Given the description of an element on the screen output the (x, y) to click on. 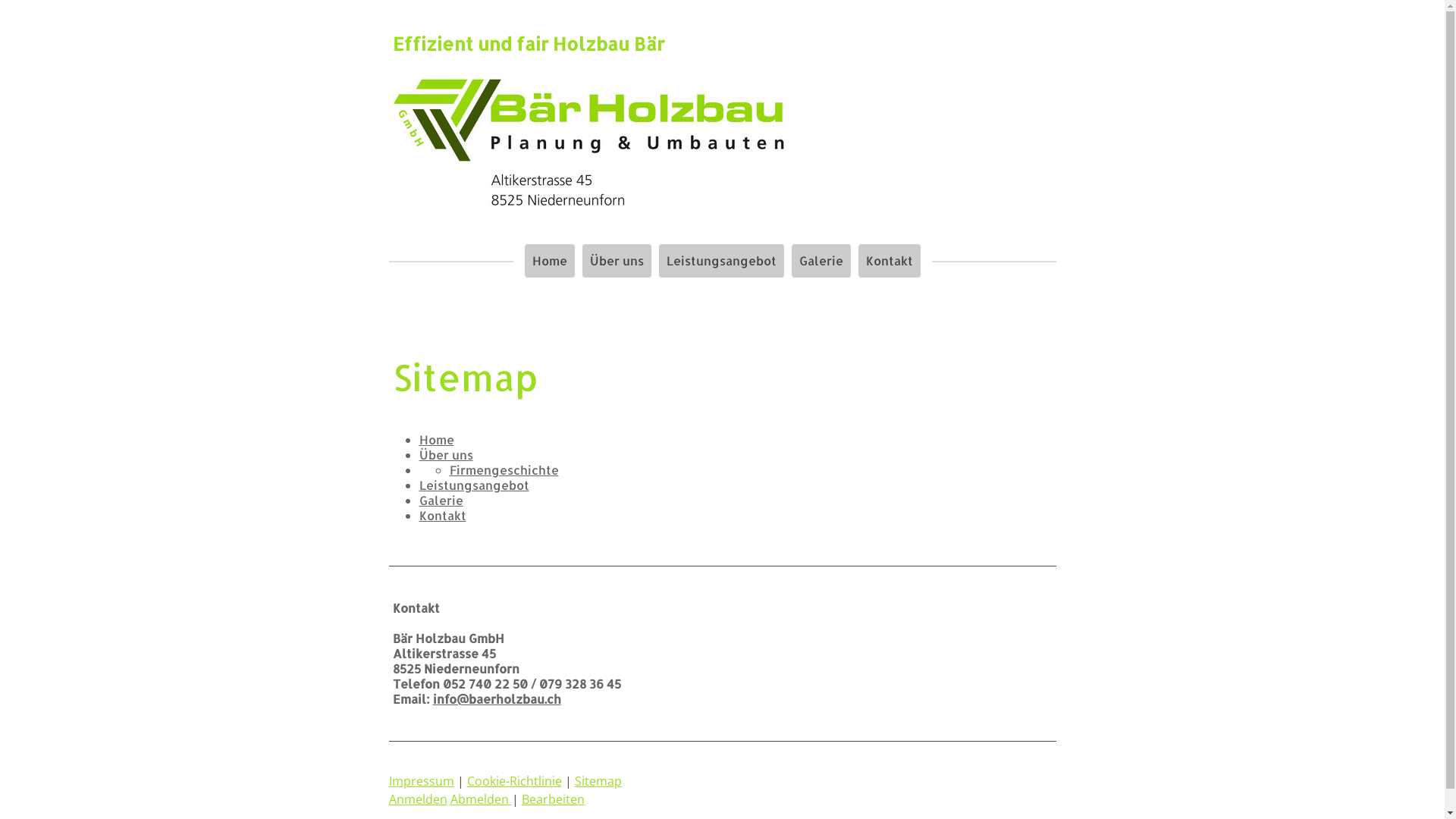
info@baerholzbau.ch Element type: text (496, 698)
Cookie-Richtlinie Element type: text (514, 780)
Abmelden Element type: text (480, 798)
Galerie Element type: text (440, 500)
Home Element type: text (435, 439)
Kontakt Element type: text (889, 260)
Bearbeiten Element type: text (552, 798)
Sitemap Element type: text (597, 780)
Impressum Element type: text (420, 780)
Kontakt Element type: text (441, 515)
Leistungsangebot Element type: text (720, 260)
Leistungsangebot Element type: text (473, 484)
Galerie Element type: text (820, 260)
Anmelden Element type: text (417, 798)
Home Element type: text (549, 260)
Firmengeschichte Element type: text (503, 469)
